Given the description of an element on the screen output the (x, y) to click on. 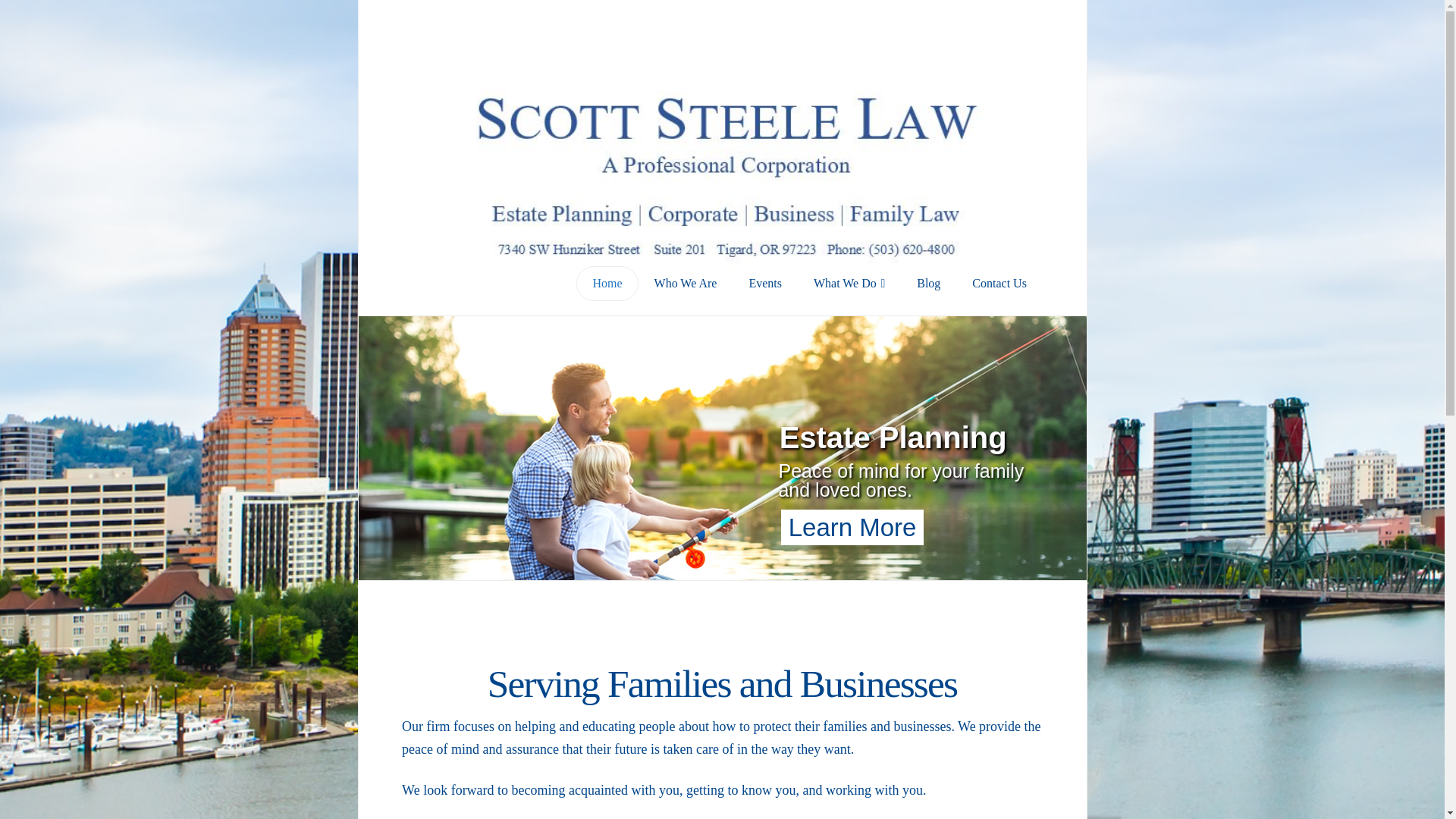
What We Do (849, 296)
Who We Are (686, 296)
Attorney at Law (721, 176)
Events (764, 296)
Learn More (853, 527)
Blog (928, 296)
Contact Us (999, 296)
Home (606, 296)
